Given the description of an element on the screen output the (x, y) to click on. 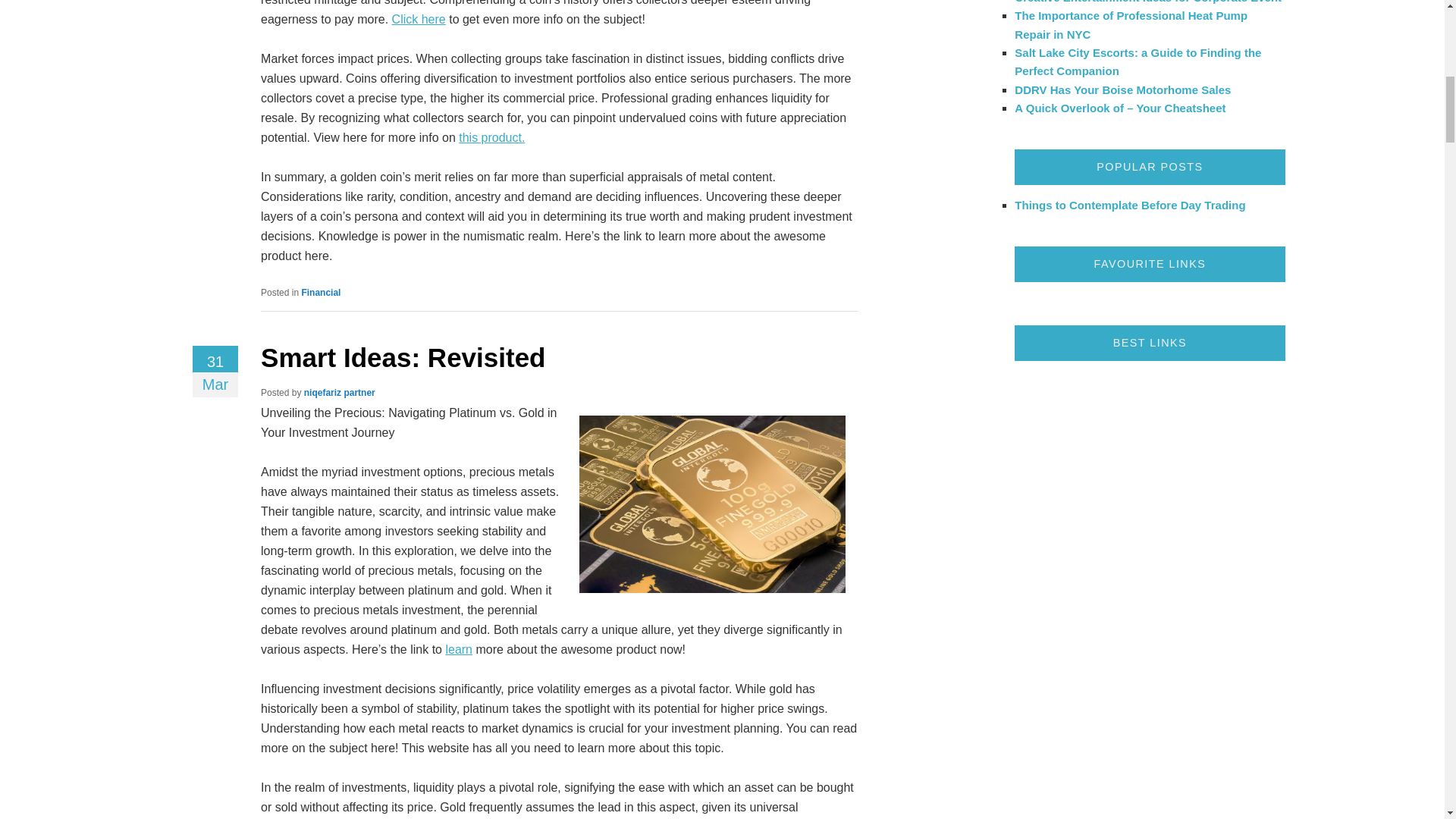
Smart Ideas: Revisited (402, 357)
this product. (491, 137)
niqefariz partner (339, 392)
Financial (320, 292)
learn (458, 649)
View all posts by niqefariz partner (339, 392)
Smart Ideas:  Revisited (402, 357)
Click here (418, 19)
